Given the description of an element on the screen output the (x, y) to click on. 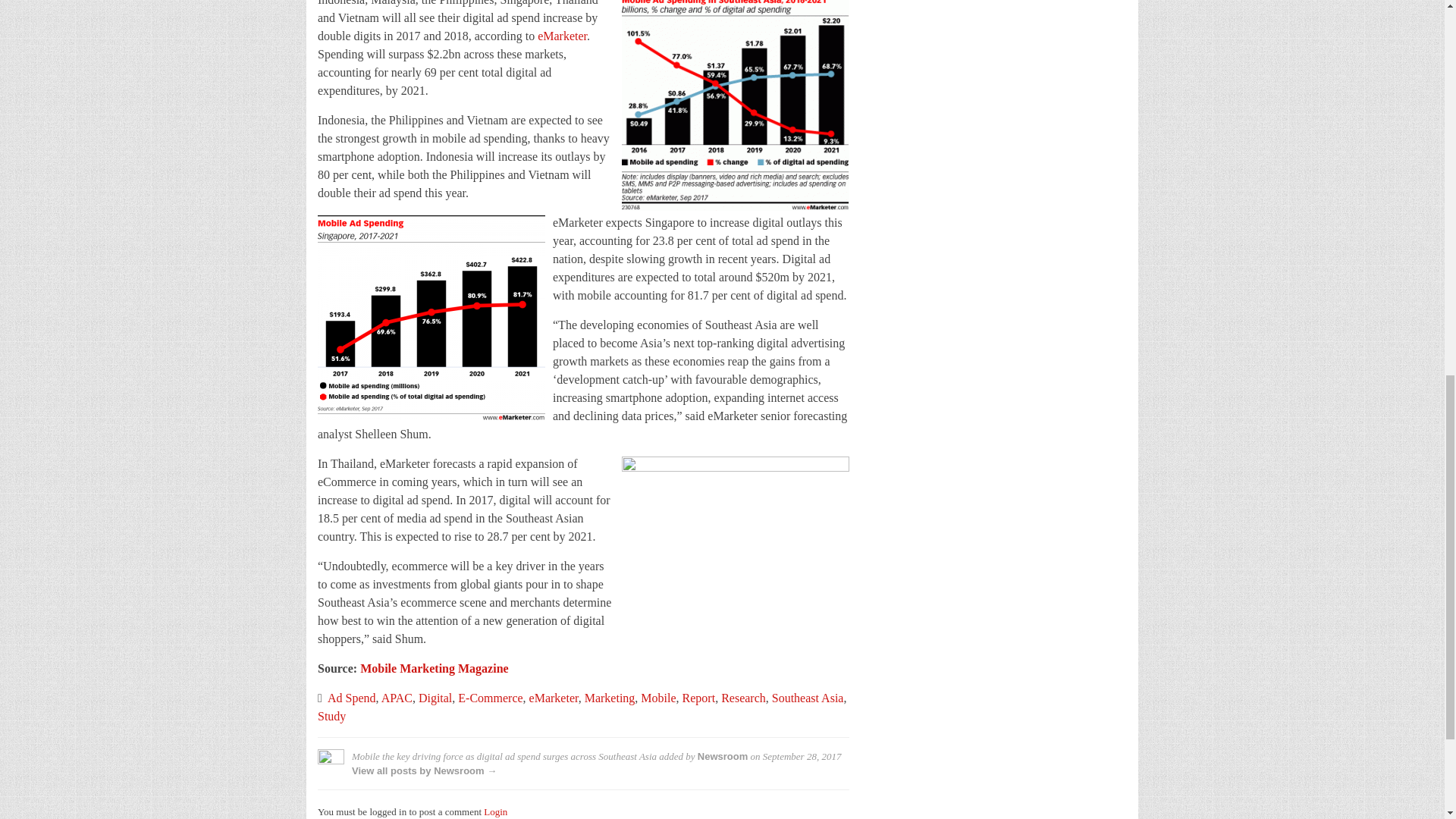
APAC (396, 697)
E-Commerce (490, 697)
Mobile (657, 697)
Digital (435, 697)
eMarketer (561, 35)
eMarketer (553, 697)
Ad Spend (351, 697)
Marketing (609, 697)
Mobile Marketing Magazine (433, 667)
